Given the description of an element on the screen output the (x, y) to click on. 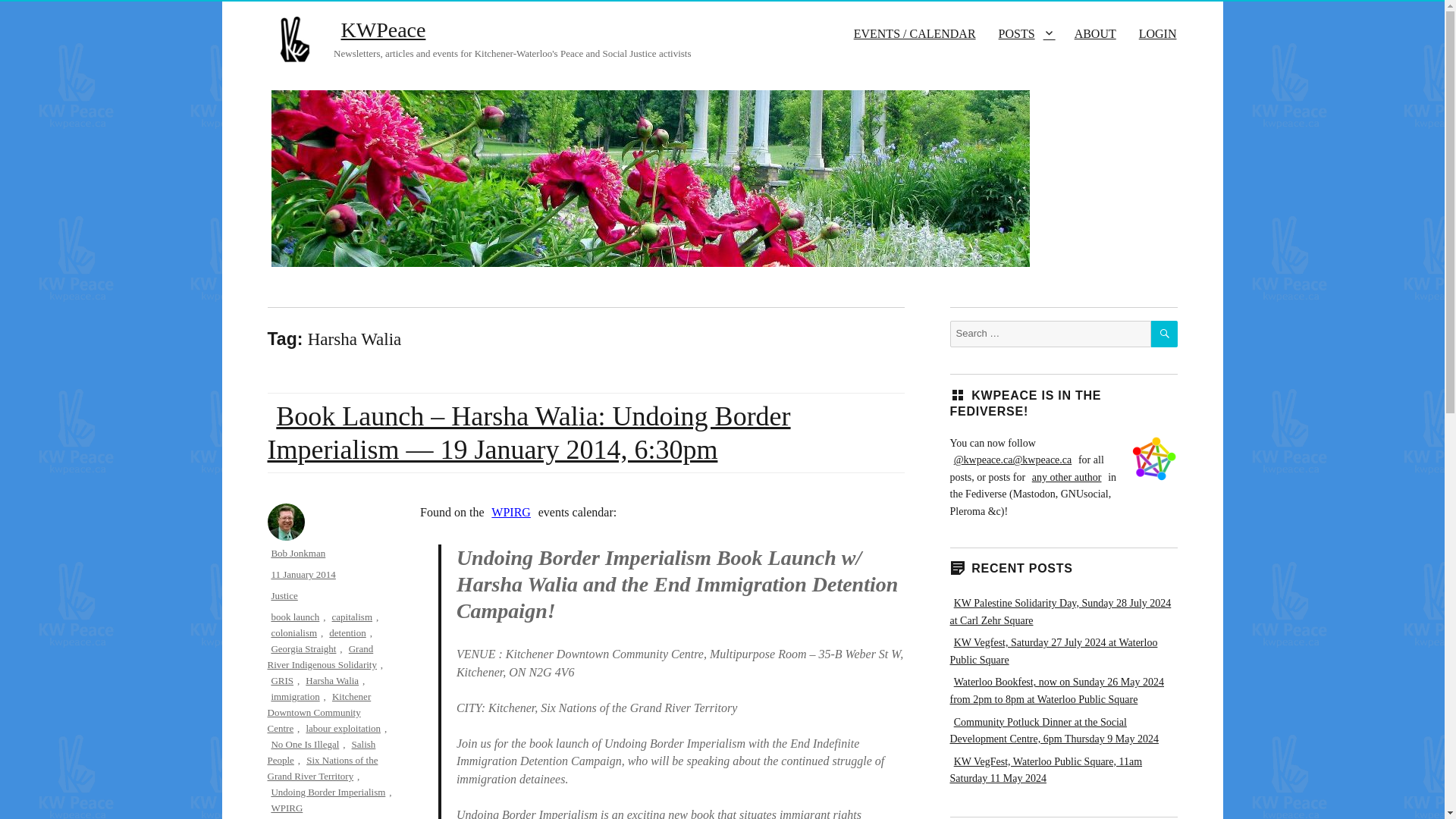
Justice (283, 594)
List of authors on kwpeace.ca (1066, 477)
Harsha Walia (331, 680)
GRIS (281, 680)
ABOUT (1094, 32)
Search for: (1049, 334)
detention (346, 632)
Bob Jonkman (297, 553)
capitalism (352, 616)
LOGIN (1157, 32)
